Given the description of an element on the screen output the (x, y) to click on. 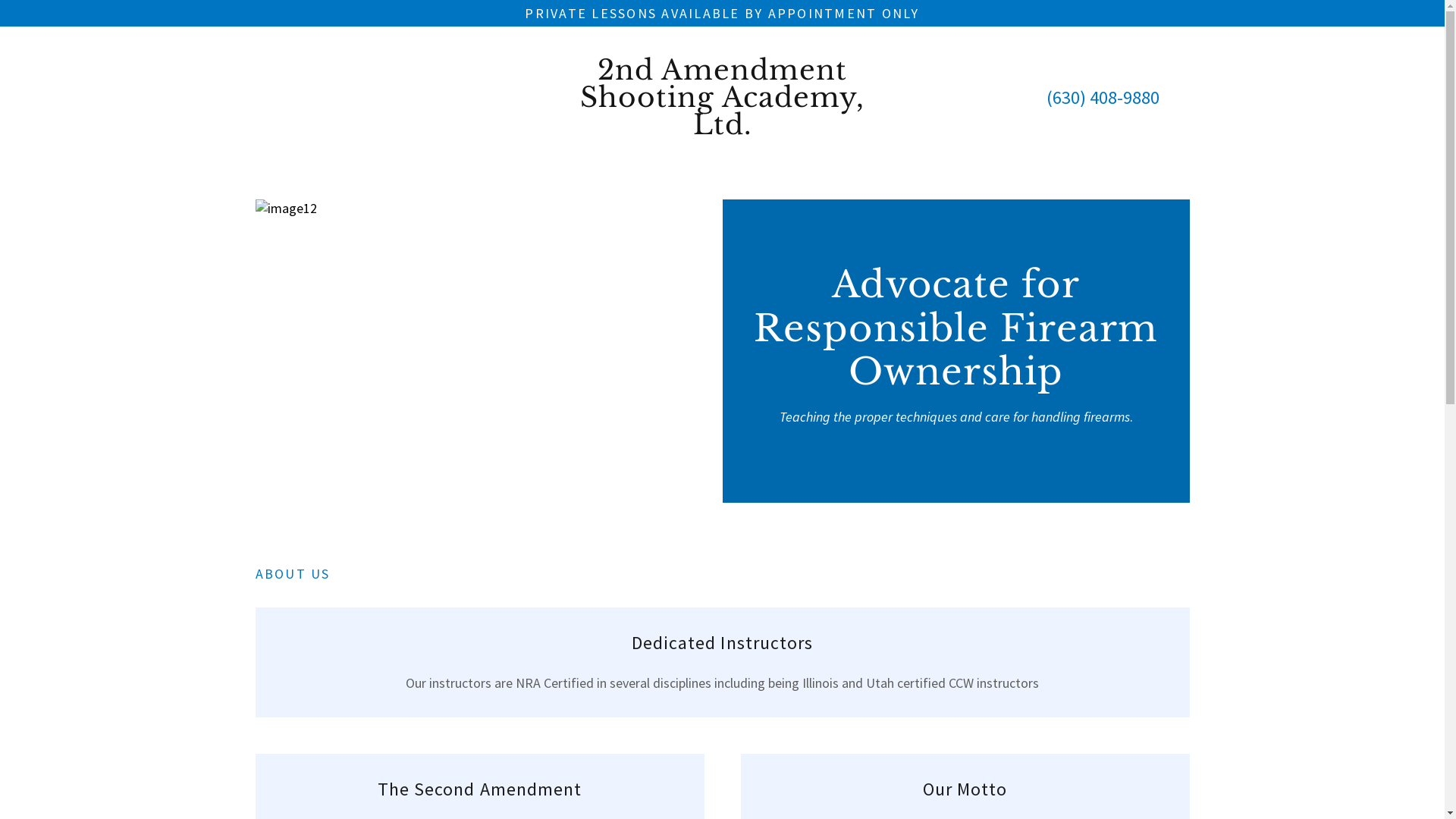
2nd Amendment Shooting Academy, Ltd. Element type: text (722, 97)
(630) 408-9880 Element type: text (1102, 97)
